Given the description of an element on the screen output the (x, y) to click on. 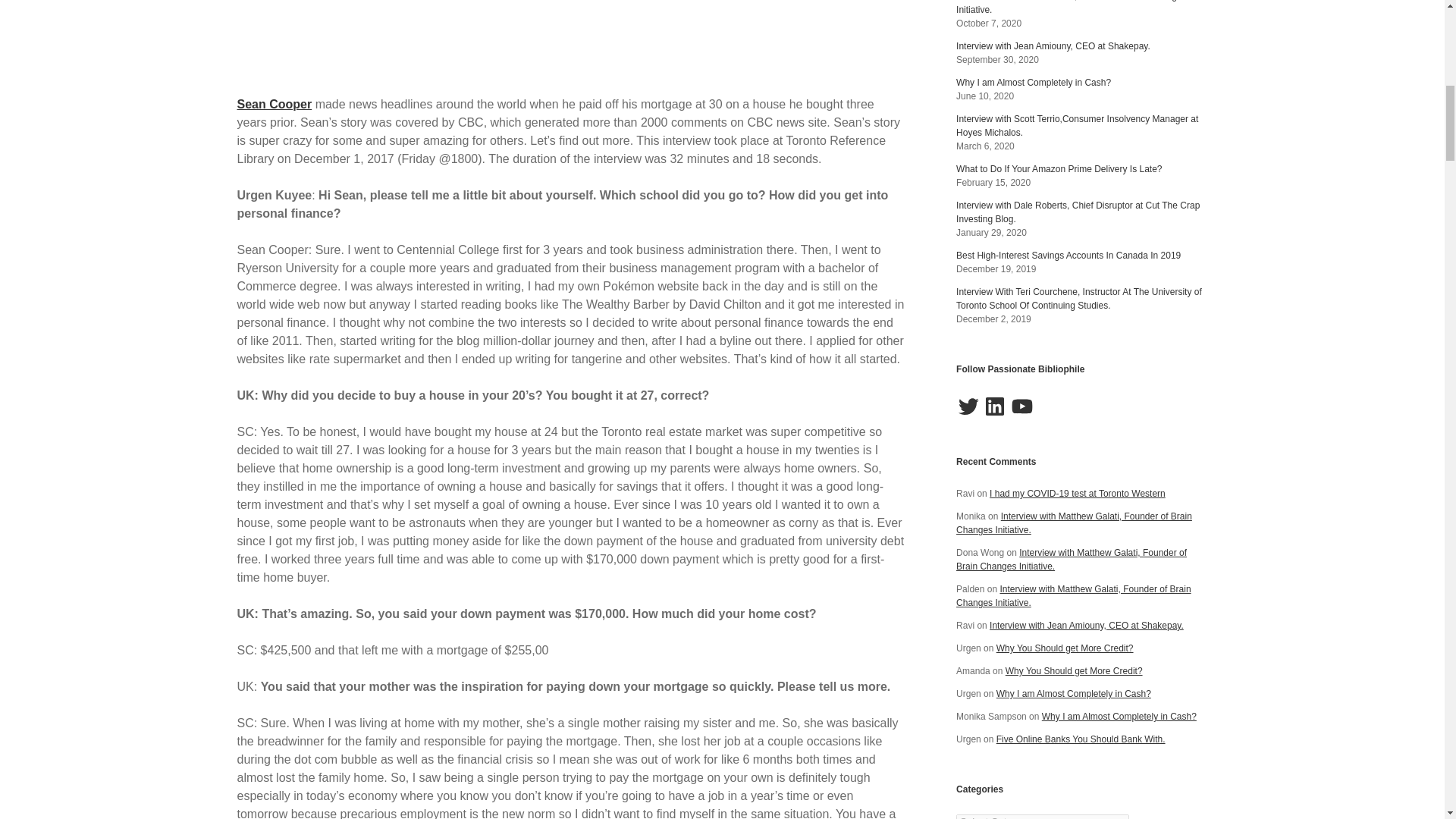
Interview with Jean Amiouny, CEO at Shakepay. (1053, 45)
YouTube (1021, 405)
Why I am Almost Completely in Cash? (1033, 81)
I had my COVID-19 test at Toronto Western (1078, 493)
LinkedIn (994, 405)
Twitter (967, 405)
Sean Cooper (273, 103)
